Given the description of an element on the screen output the (x, y) to click on. 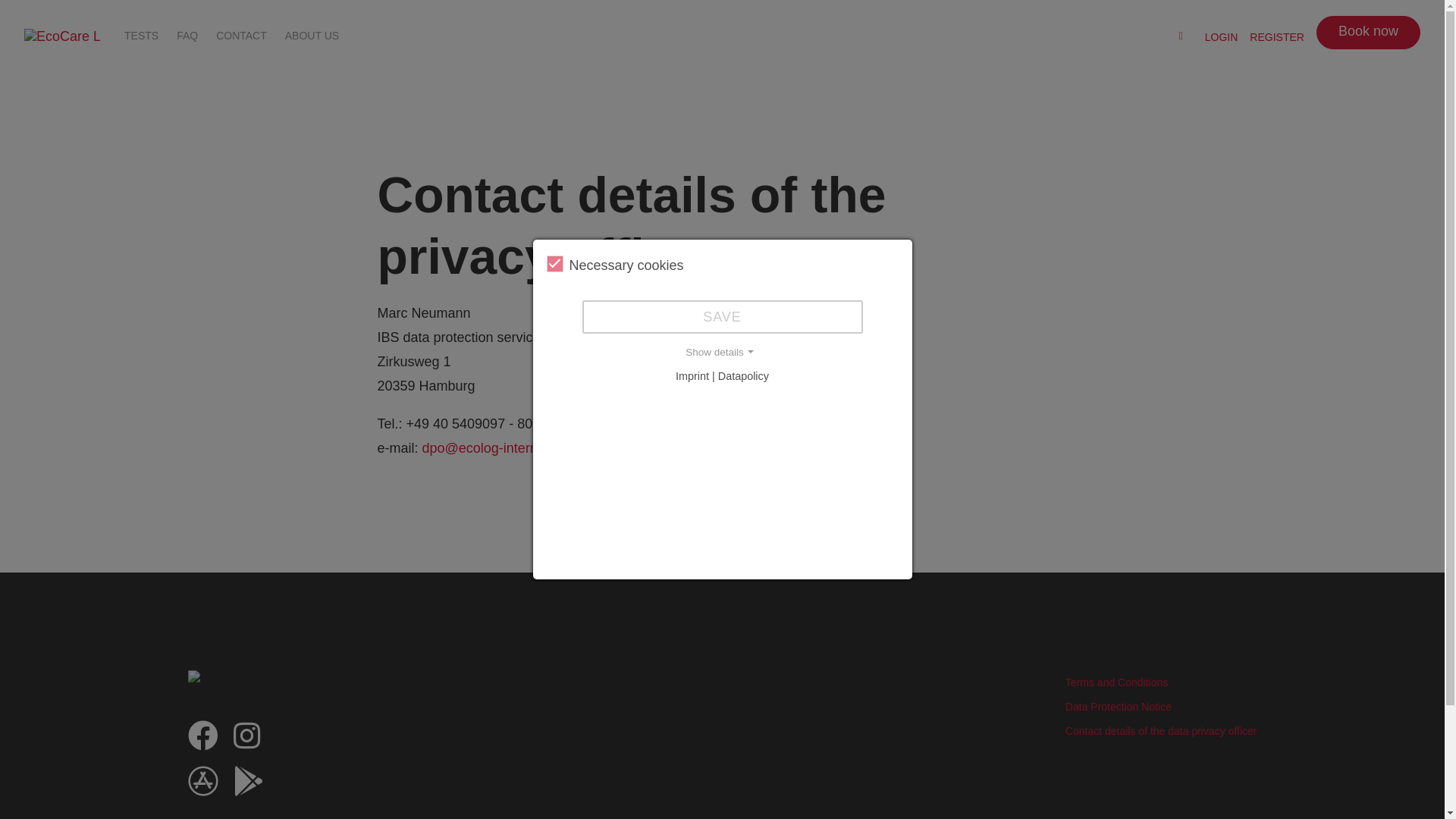
ABOUT US Element type: text (311, 35)
Terms and Conditions Element type: text (1116, 682)
EN Element type: hover (1159, 37)
dpo@ecolog-international.com Element type: text (514, 447)
EcoCare Facebook Element type: hover (203, 741)
CONTACT Element type: text (241, 35)
REGISTER Element type: text (1276, 36)
EcoCare Android App Element type: hover (248, 787)
Contact details of the data privacy officer Element type: text (1161, 730)
Data Protection Notice Element type: text (1118, 706)
TESTS Element type: text (141, 35)
EcoCare iOs App Element type: hover (203, 787)
SAVE Element type: text (722, 316)
Show details Element type: text (721, 352)
FAQ Element type: text (186, 35)
LOGIN Element type: text (1221, 36)
Home Element type: hover (62, 36)
EcoCare Instagram Element type: hover (246, 741)
Book now Element type: text (1368, 32)
